Given the description of an element on the screen output the (x, y) to click on. 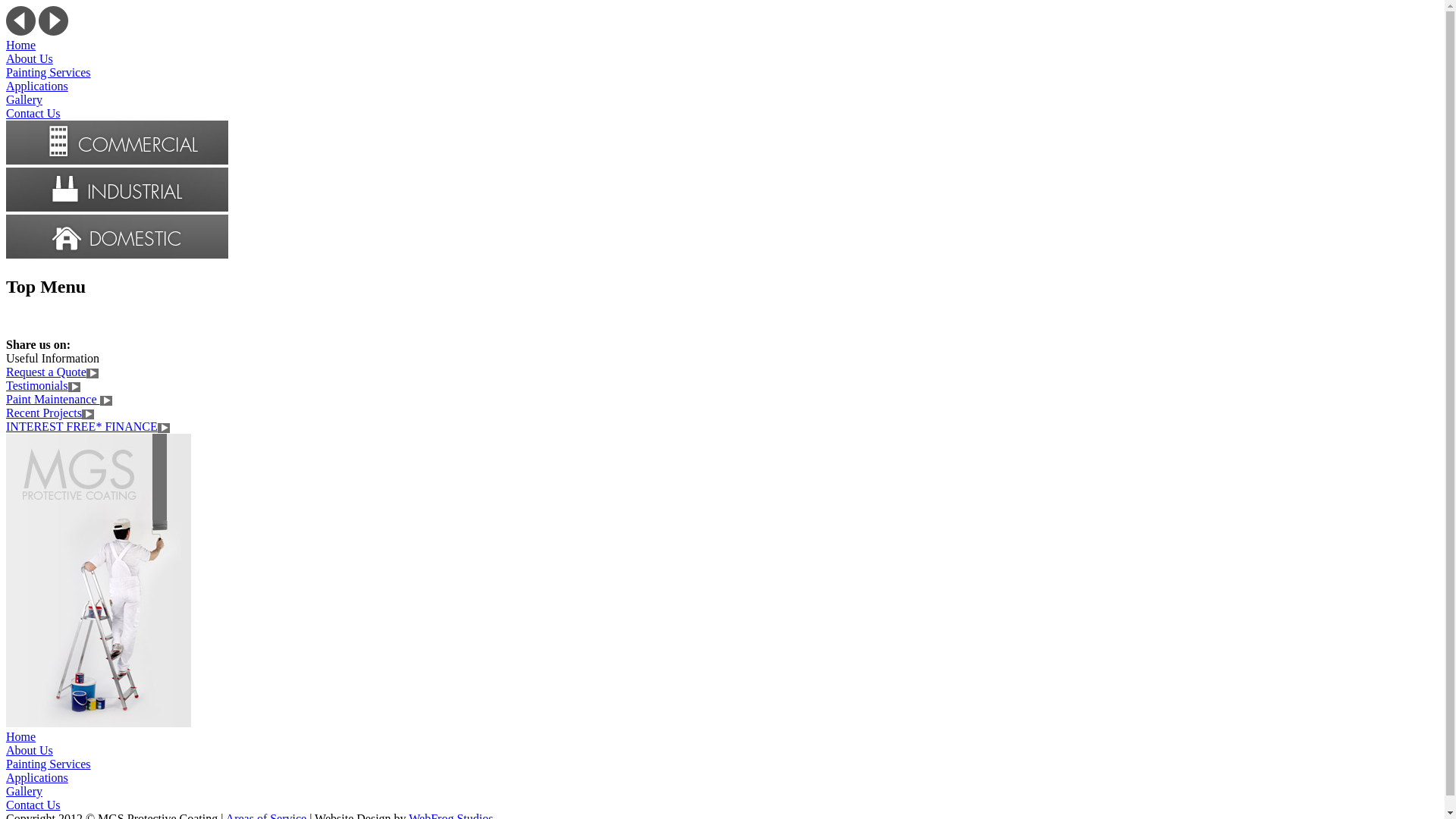
Testimonials Element type: text (37, 385)
About Us Element type: text (29, 58)
Contact Us Element type: text (33, 804)
Applications Element type: text (37, 85)
Gallery Element type: text (24, 790)
Home Element type: text (20, 736)
Gallery Element type: text (24, 99)
Home Element type: text (20, 44)
Applications Element type: text (37, 777)
Paint Maintenance Element type: text (53, 398)
Request a Quote Element type: text (46, 371)
Painting Services Element type: text (48, 71)
INTEREST FREE* FINANCE Element type: text (81, 426)
Get your property painted my the best at MGS Element type: hover (98, 580)
Contact Us Element type: text (33, 112)
About Us Element type: text (29, 749)
Painting Services Element type: text (48, 763)
Recent Projects Element type: text (43, 412)
